Given the description of an element on the screen output the (x, y) to click on. 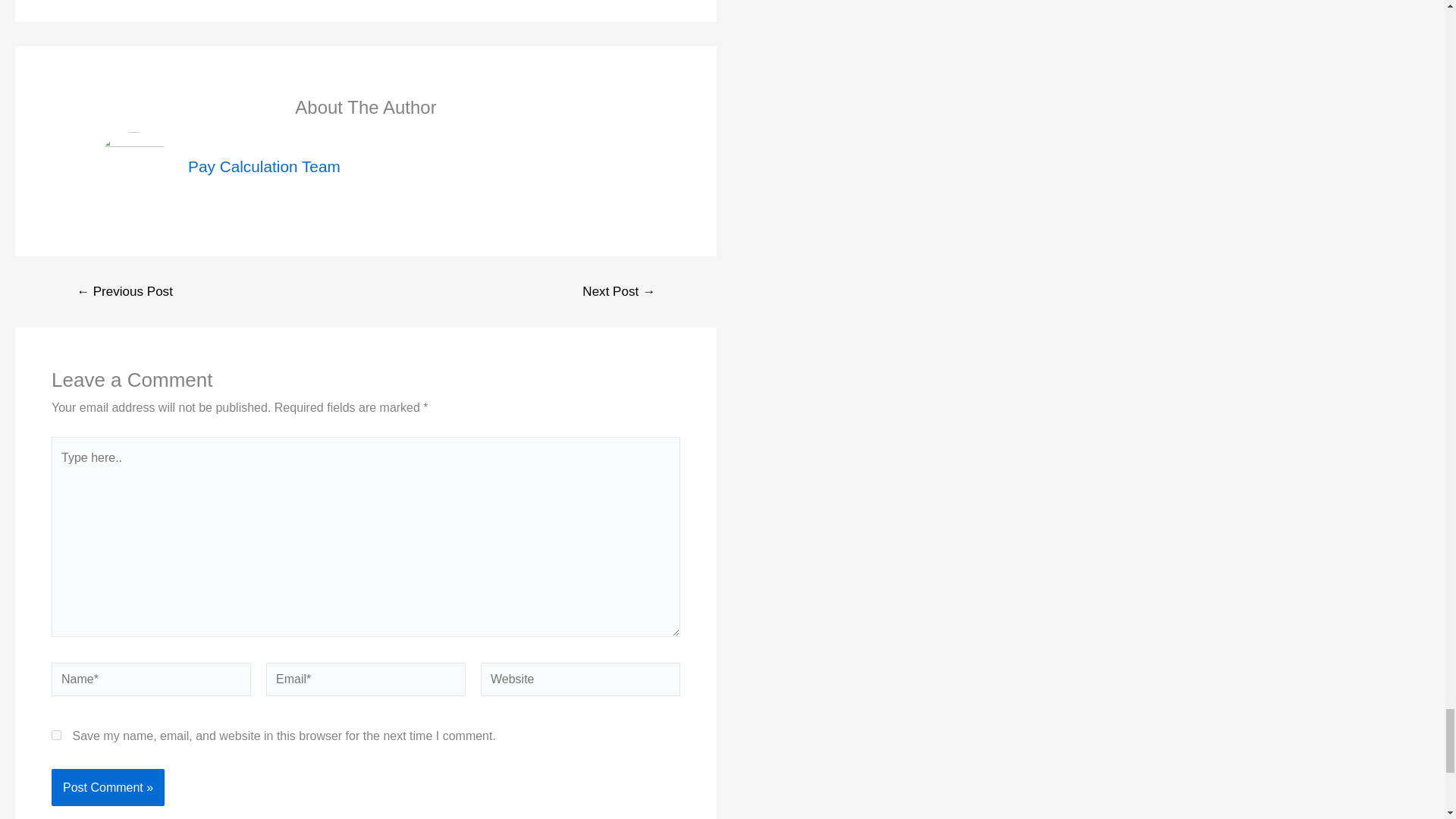
Pay Calculation Team (263, 166)
yes (55, 735)
